Given the description of an element on the screen output the (x, y) to click on. 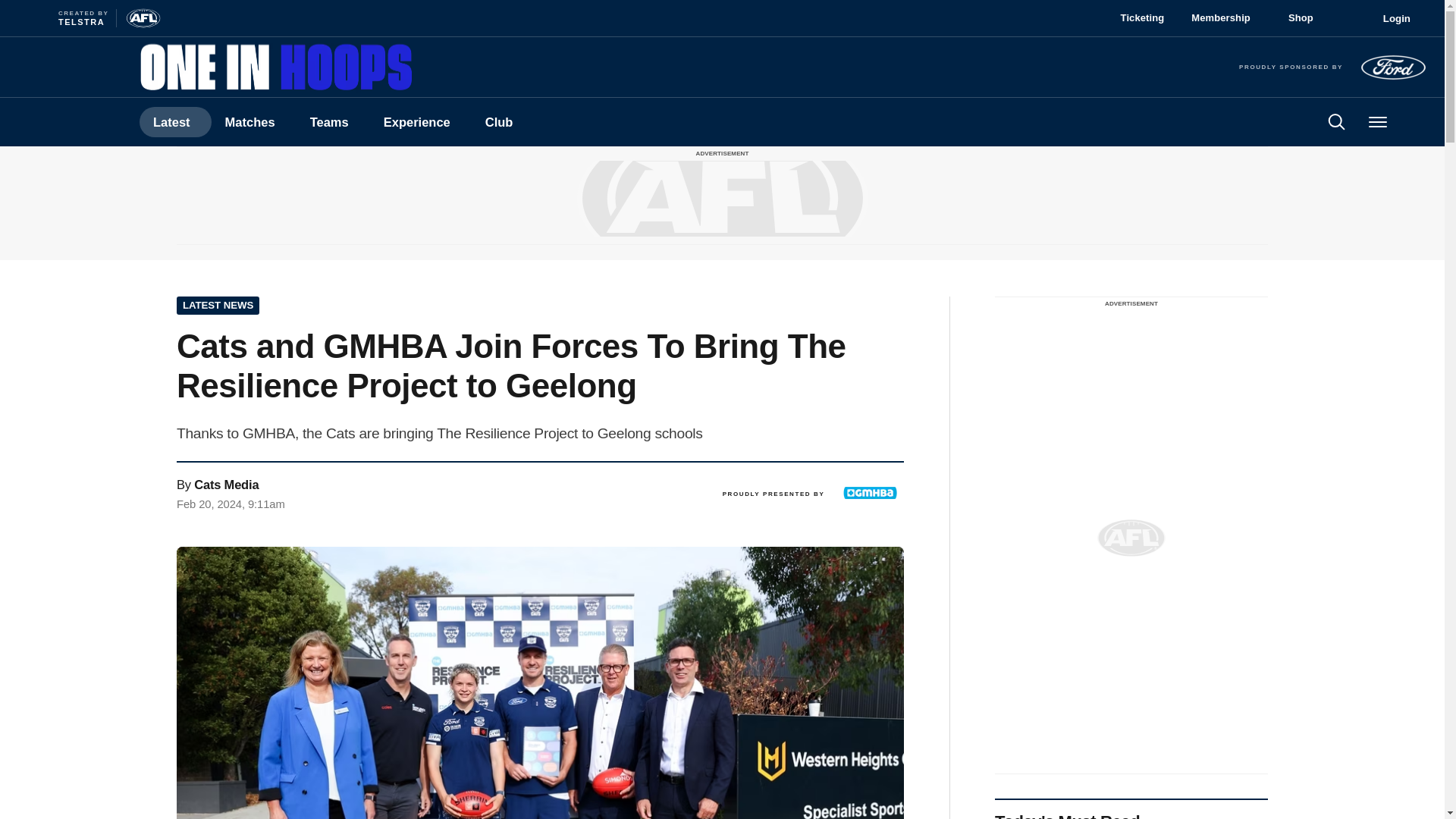
Ticketing (65, 18)
Shop (1141, 17)
Latest (1306, 17)
Membership (175, 122)
Club Logo (1226, 17)
Login (57, 121)
Experience (1387, 17)
Matches (420, 122)
Shop (254, 122)
